Given the description of an element on the screen output the (x, y) to click on. 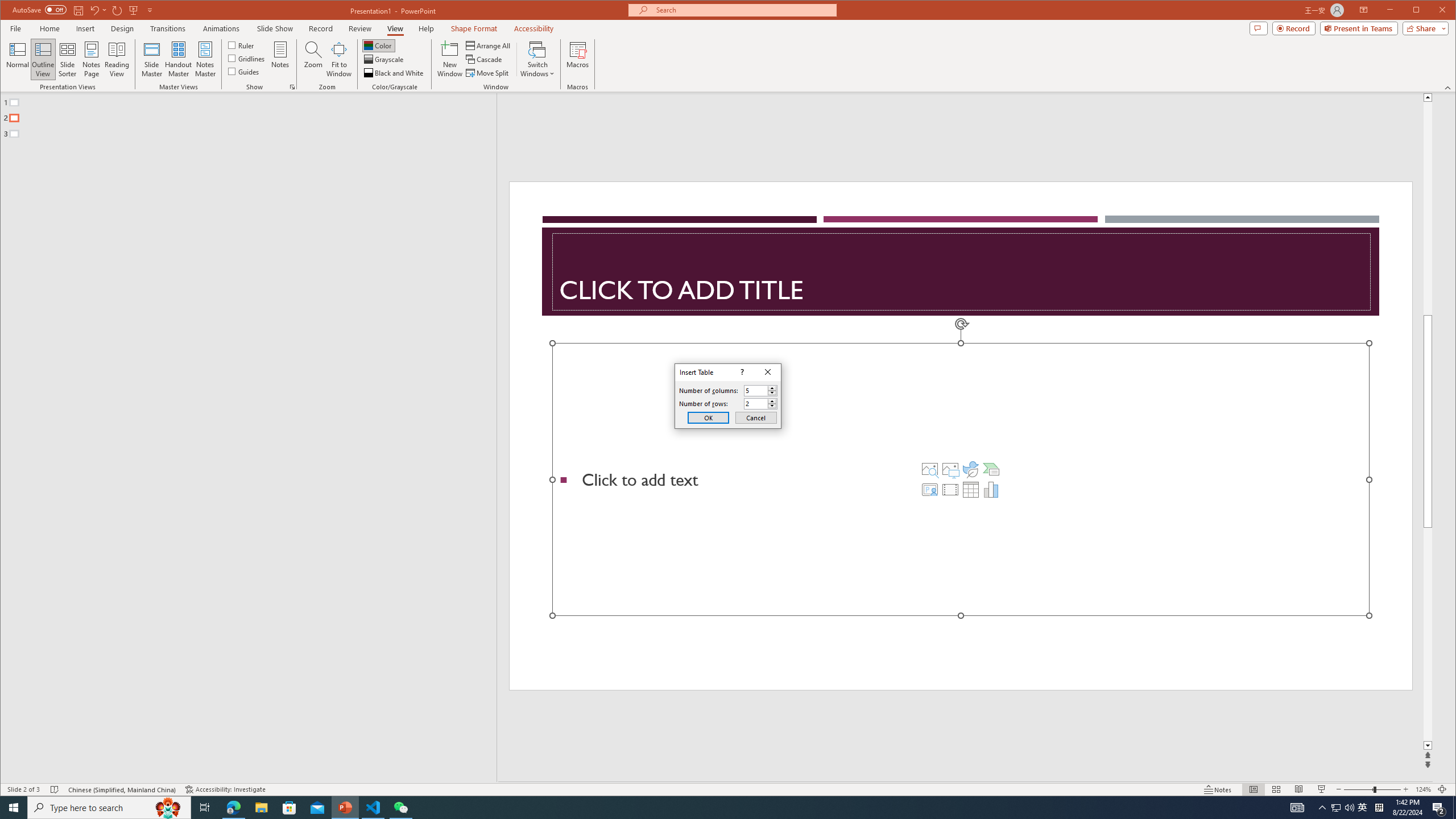
Stock Images (929, 469)
Tray Input Indicator - Chinese (Simplified, China) (1378, 807)
Search highlights icon opens search home window (167, 807)
Number of columns (755, 390)
Outline View (42, 59)
Fit to Window (338, 59)
Zoom 124% (1422, 789)
Grayscale (384, 59)
User Promoted Notification Area (1342, 807)
OK (708, 417)
Cascade (484, 59)
